Given the description of an element on the screen output the (x, y) to click on. 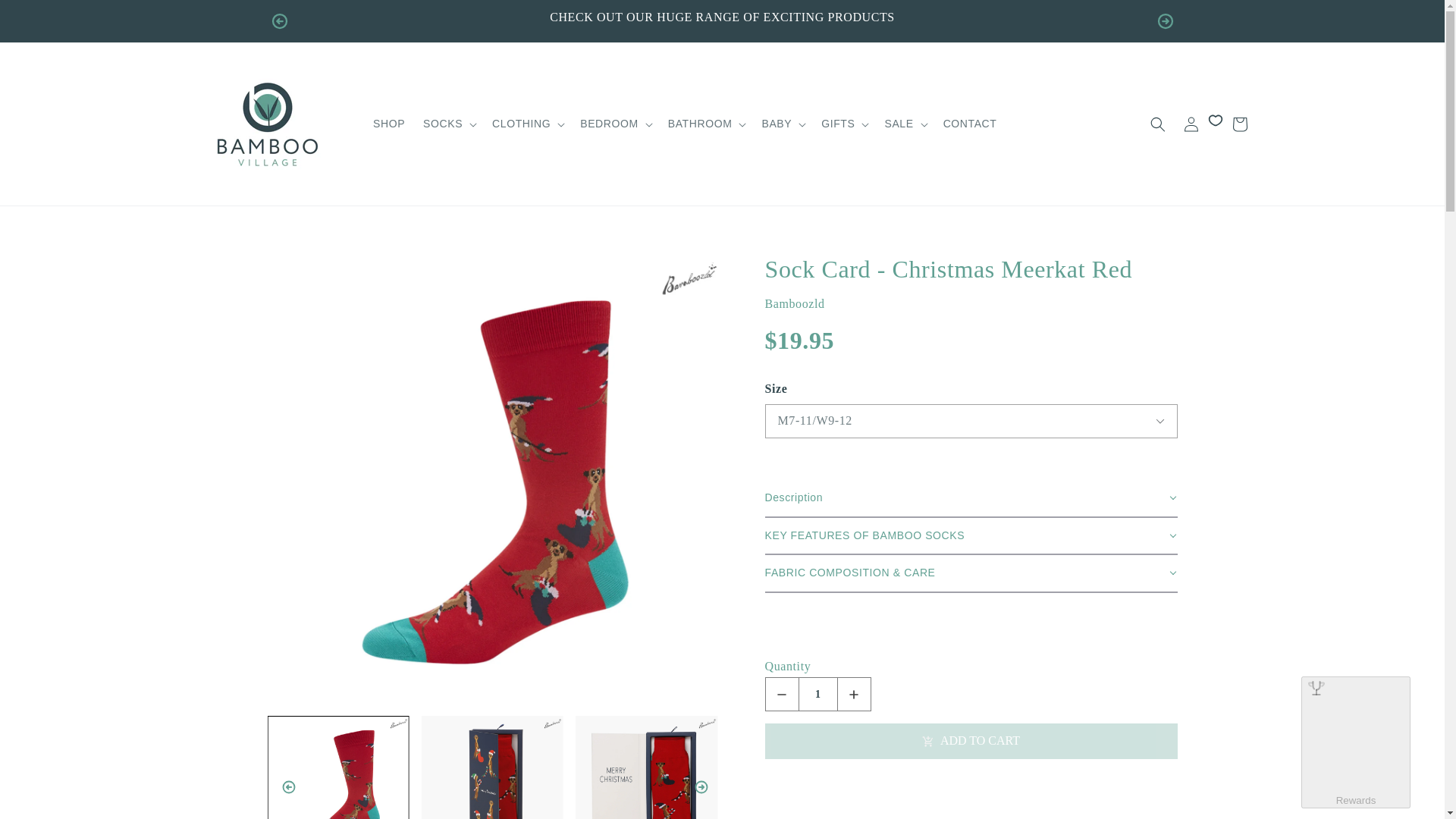
Decrement (780, 694)
1 (818, 694)
Skip to content (45, 17)
Increment (853, 694)
